Given the description of an element on the screen output the (x, y) to click on. 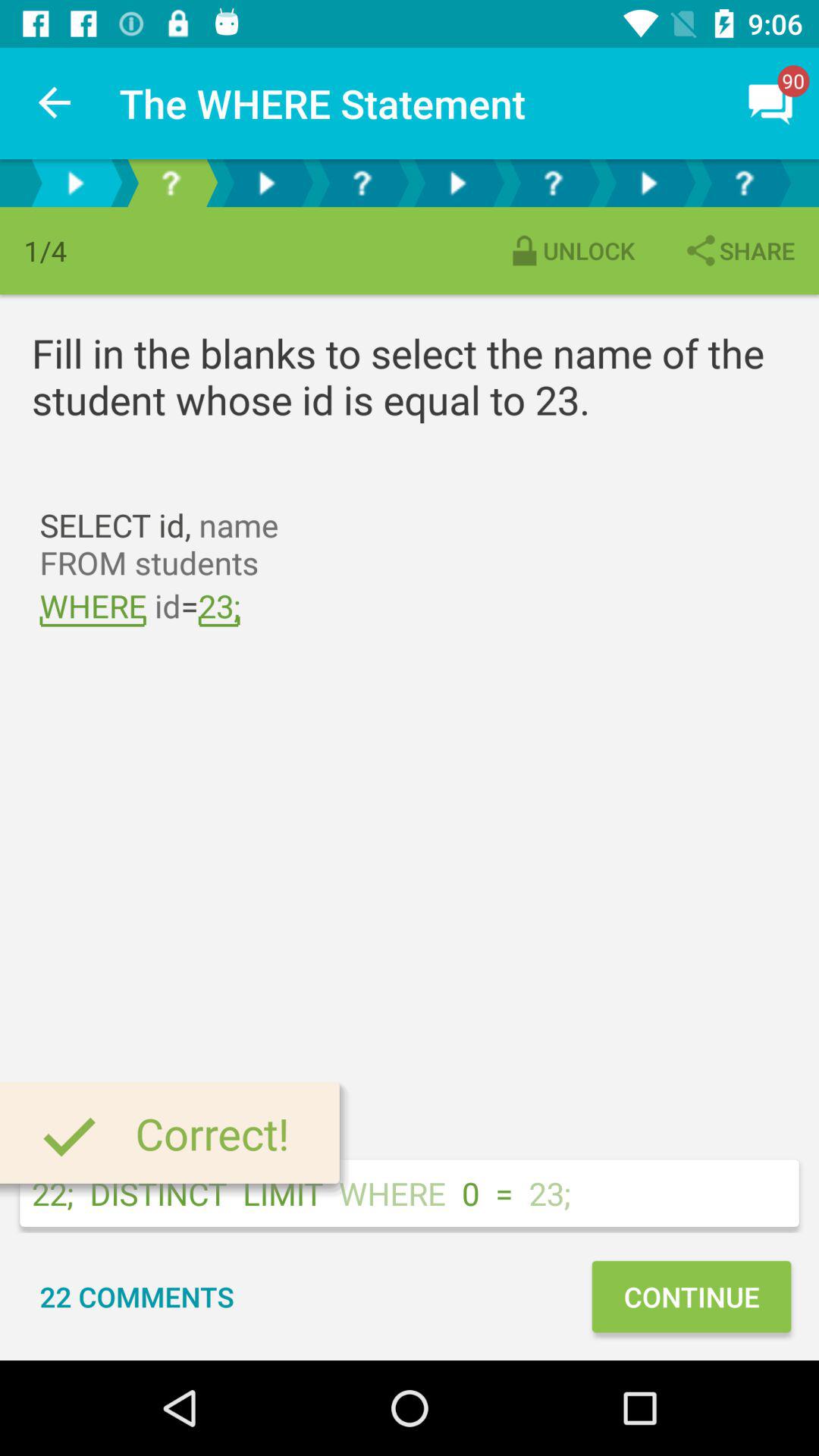
go back (74, 183)
